Given the description of an element on the screen output the (x, y) to click on. 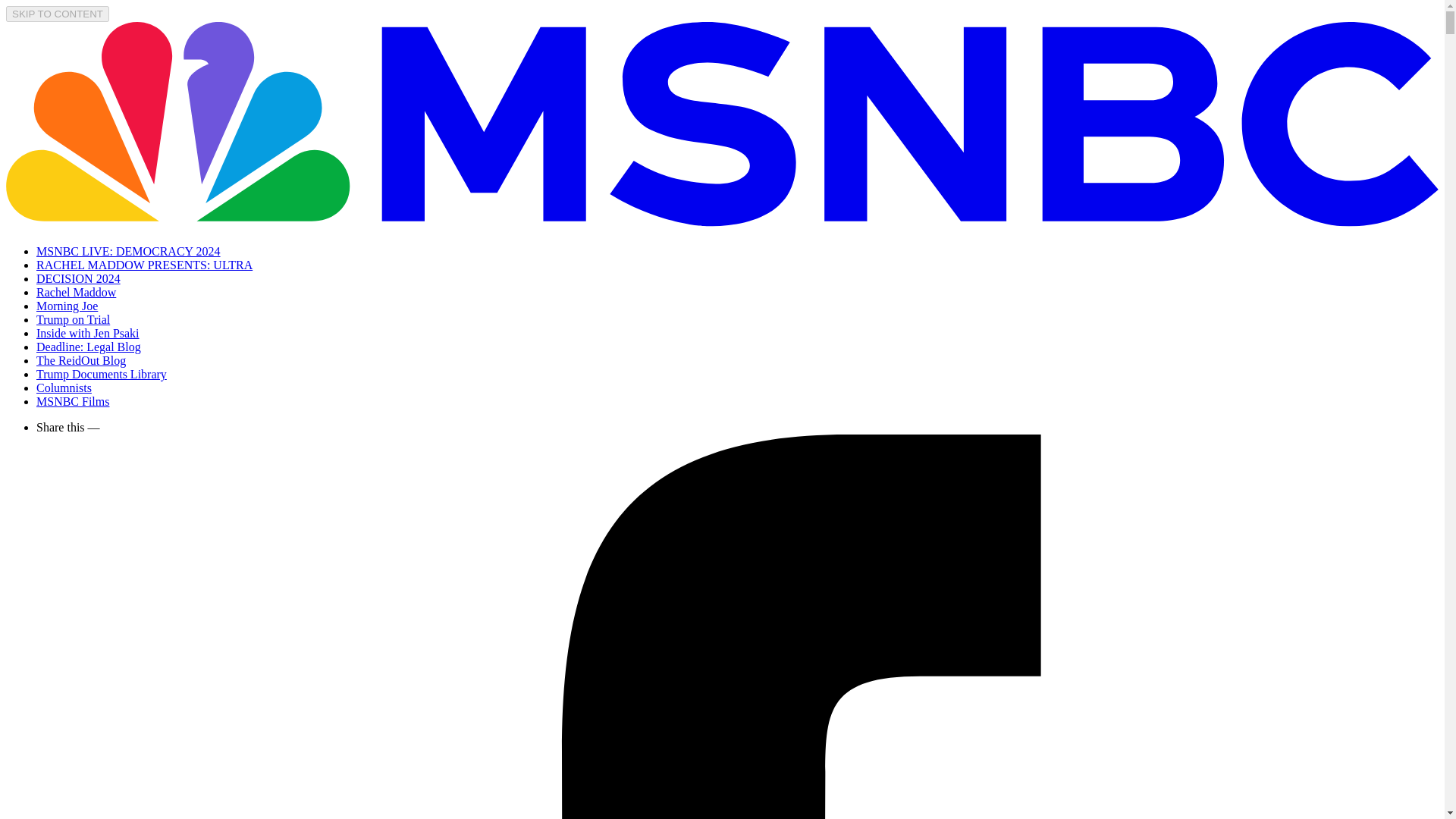
Rachel Maddow (76, 291)
Morning Joe (66, 305)
DECISION 2024 (78, 278)
The ReidOut Blog (80, 359)
MSNBC LIVE: DEMOCRACY 2024 (128, 250)
Trump Documents Library (101, 373)
Columnists (63, 387)
RACHEL MADDOW PRESENTS: ULTRA (143, 264)
Trump on Trial (73, 318)
MSNBC Films (72, 400)
